Given the description of an element on the screen output the (x, y) to click on. 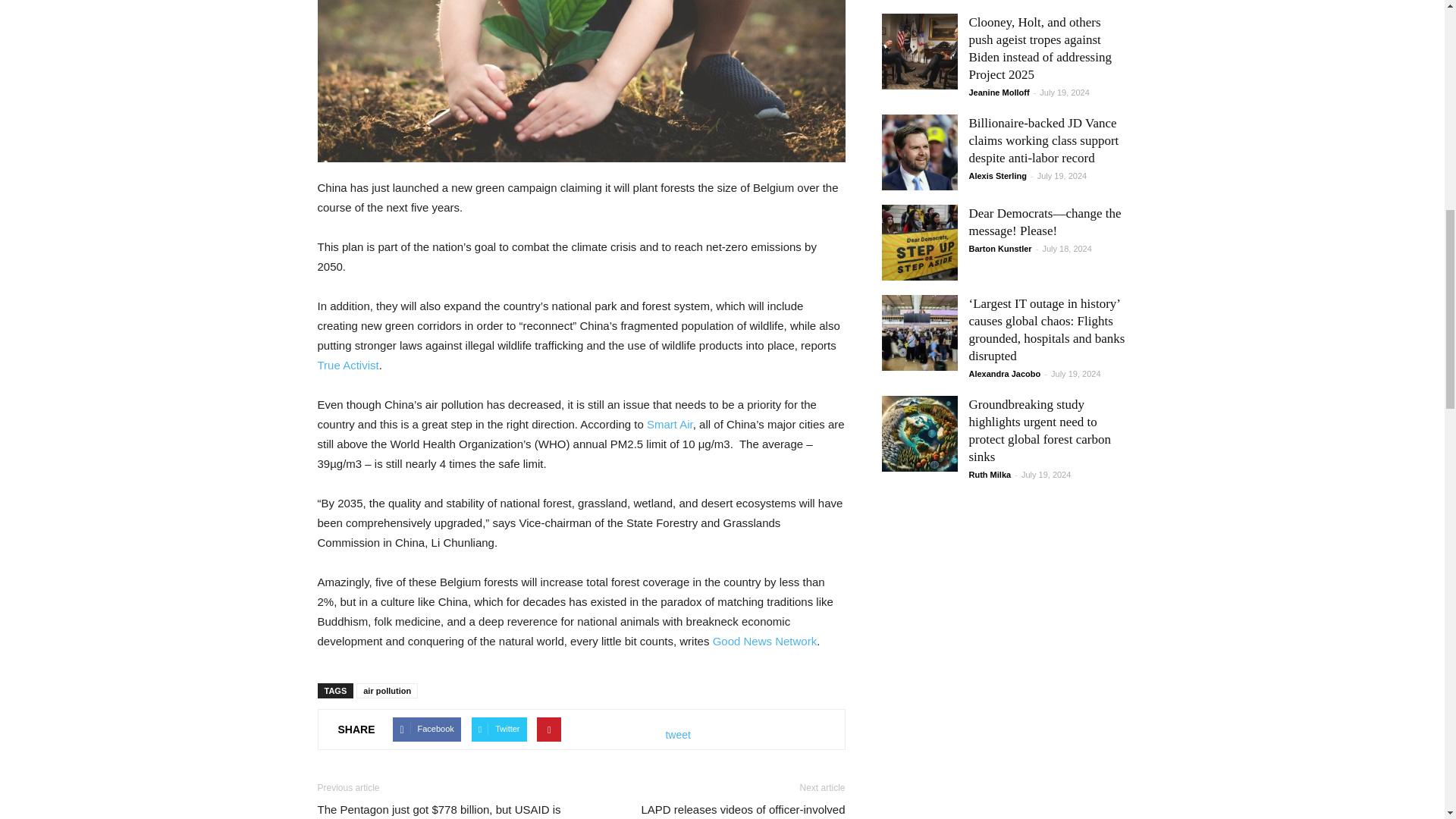
Sz4Uq2he20fH (580, 81)
